Given the description of an element on the screen output the (x, y) to click on. 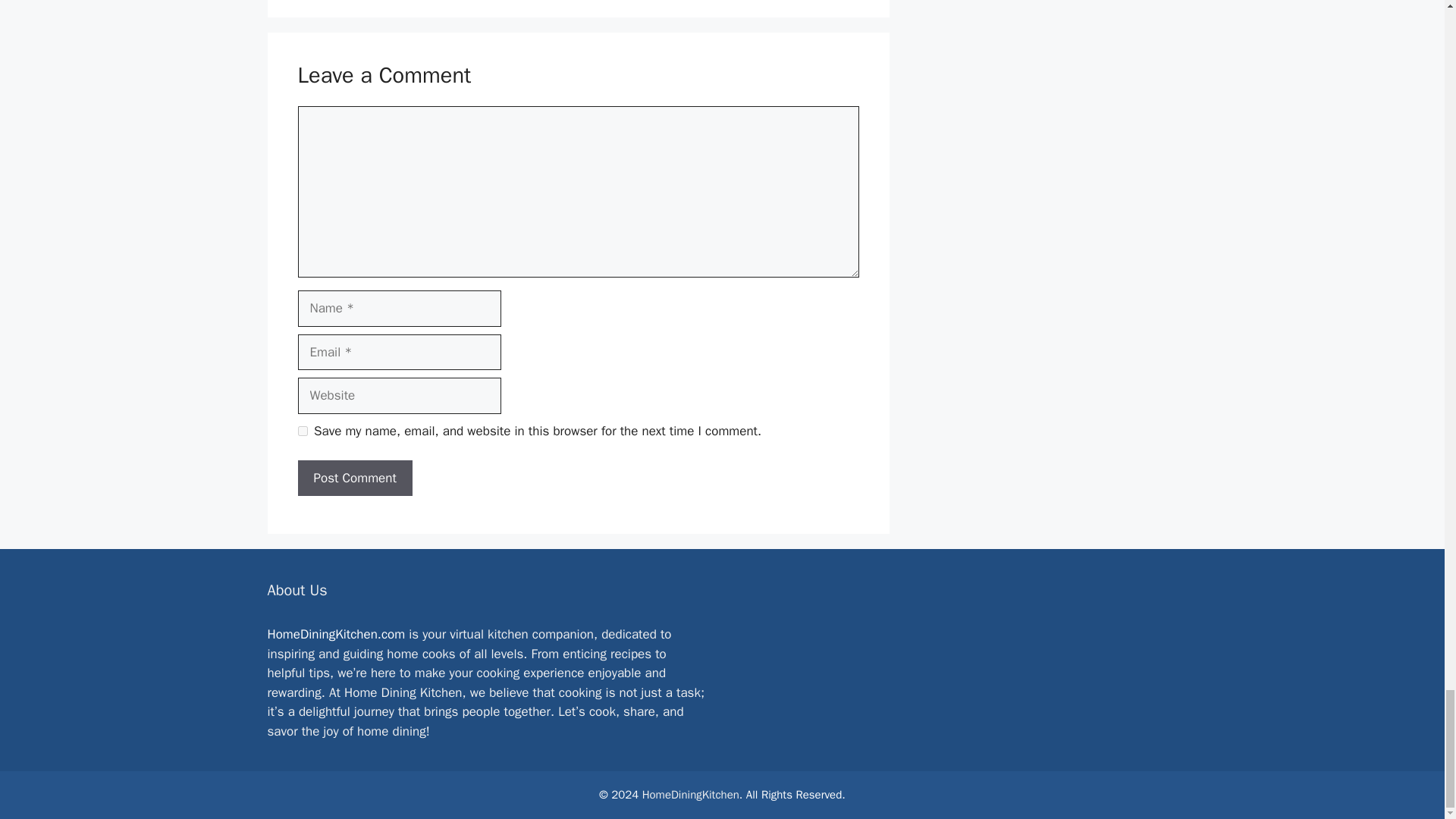
HomeDiningKitchen.com (335, 634)
yes (302, 430)
Post Comment (354, 478)
HomeDiningKitchen (690, 794)
Post Comment (354, 478)
